Given the description of an element on the screen output the (x, y) to click on. 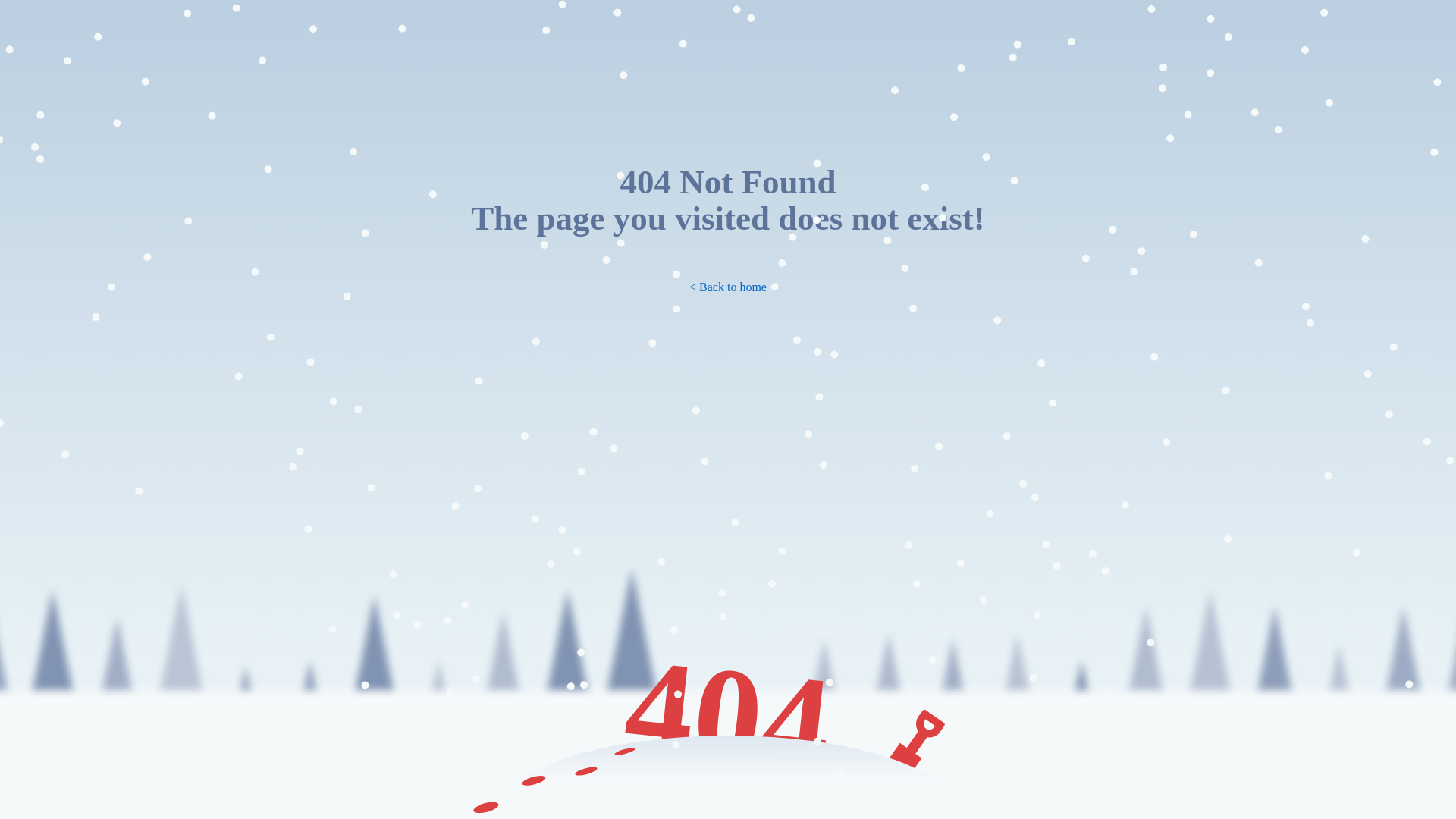
< Back to home Element type: text (727, 286)
